Given the description of an element on the screen output the (x, y) to click on. 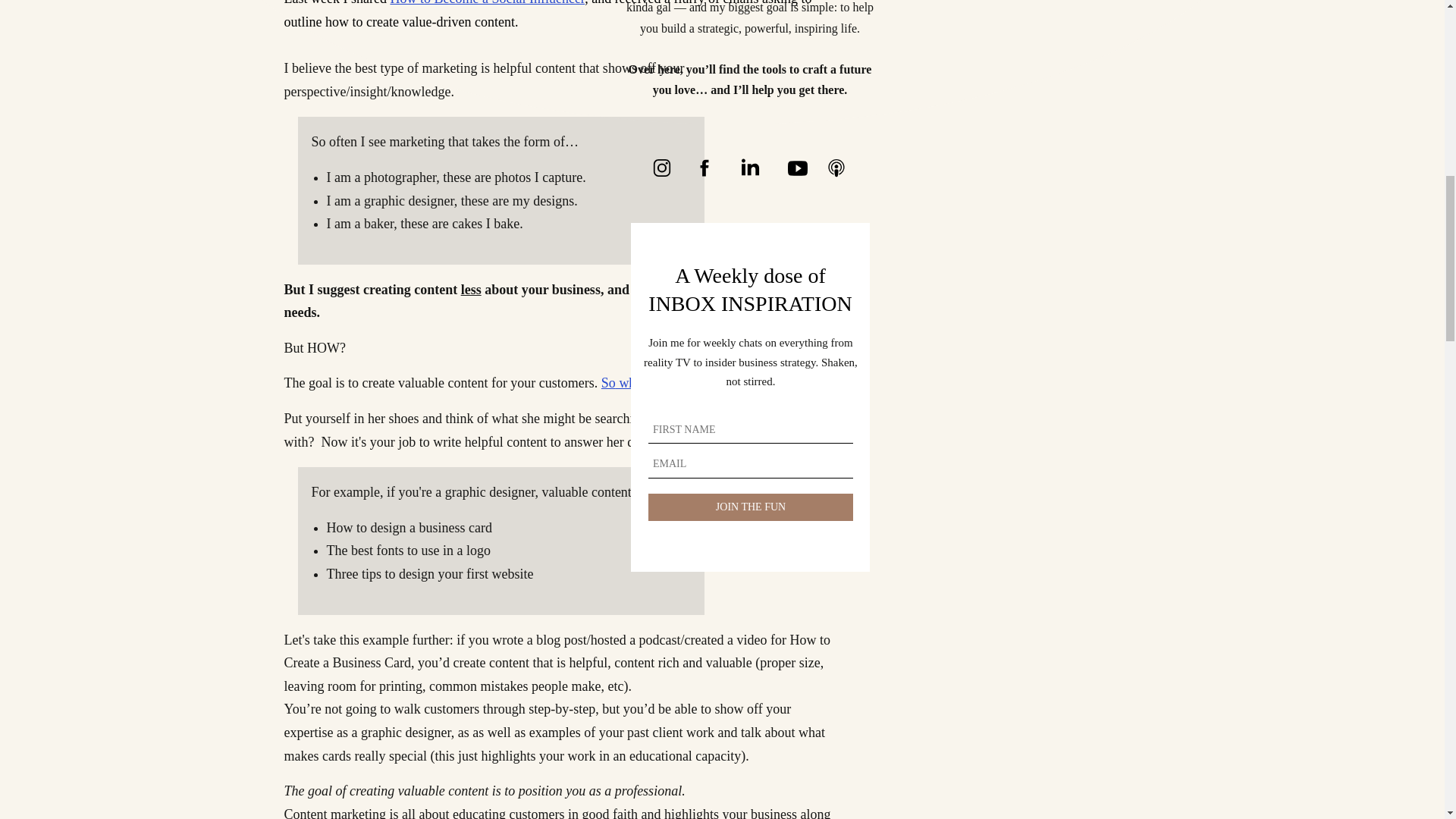
who is your customer? (678, 382)
JOIN THE FUN (750, 506)
How to Become a Social Influencer (487, 2)
So (608, 382)
